Given the description of an element on the screen output the (x, y) to click on. 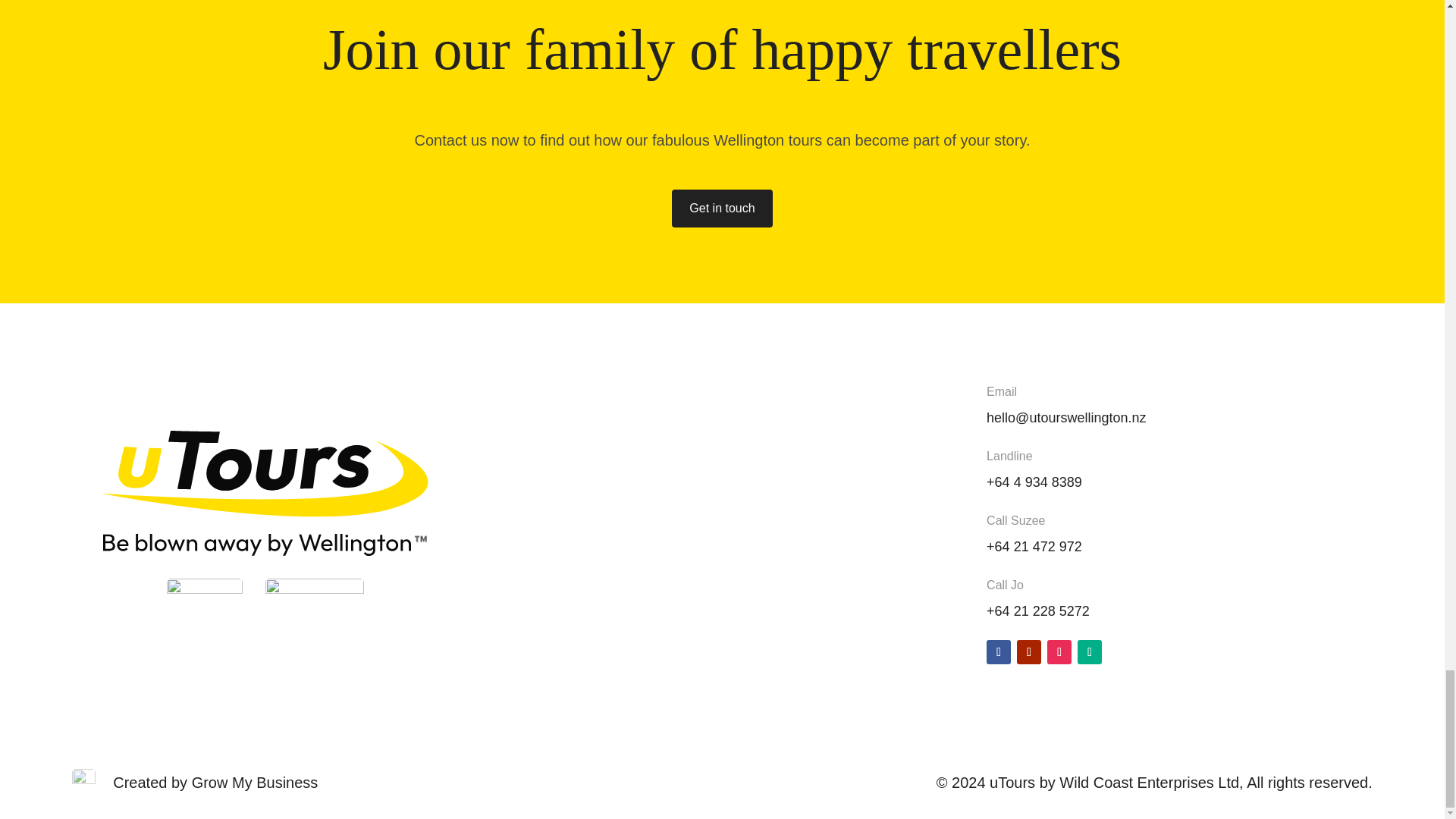
NZ-TourismGuide-sm (314, 593)
Follow on TripAdvisor (1089, 651)
uTours Logo (264, 492)
Follow on Instagram (1058, 651)
Follow on Youtube (1028, 651)
Get in touch (721, 208)
Follow on Facebook (998, 651)
